Given the description of an element on the screen output the (x, y) to click on. 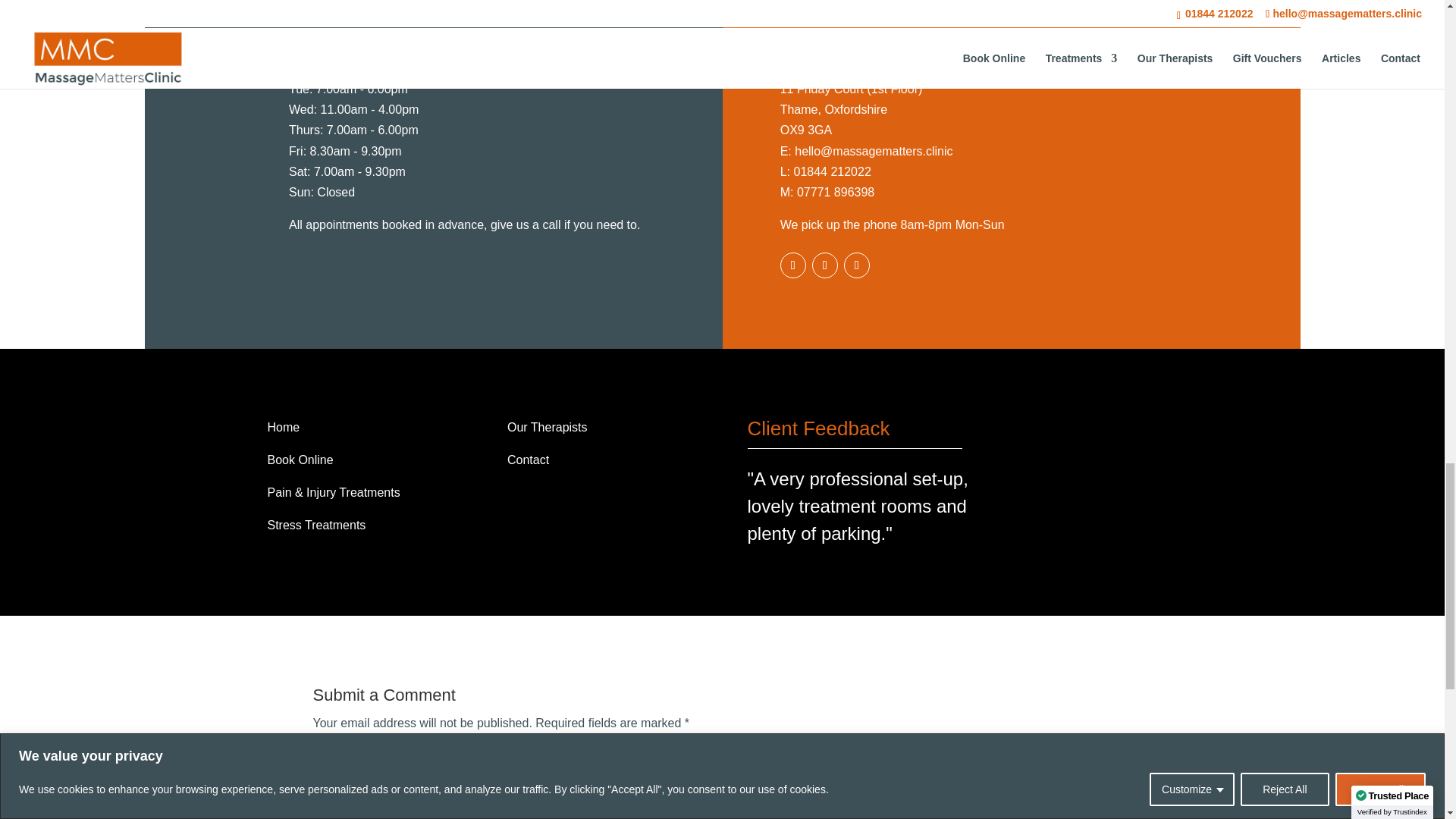
Follow on Instagram (825, 265)
Follow on Facebook (793, 265)
Email (873, 151)
Follow on Youtube (856, 265)
